Given the description of an element on the screen output the (x, y) to click on. 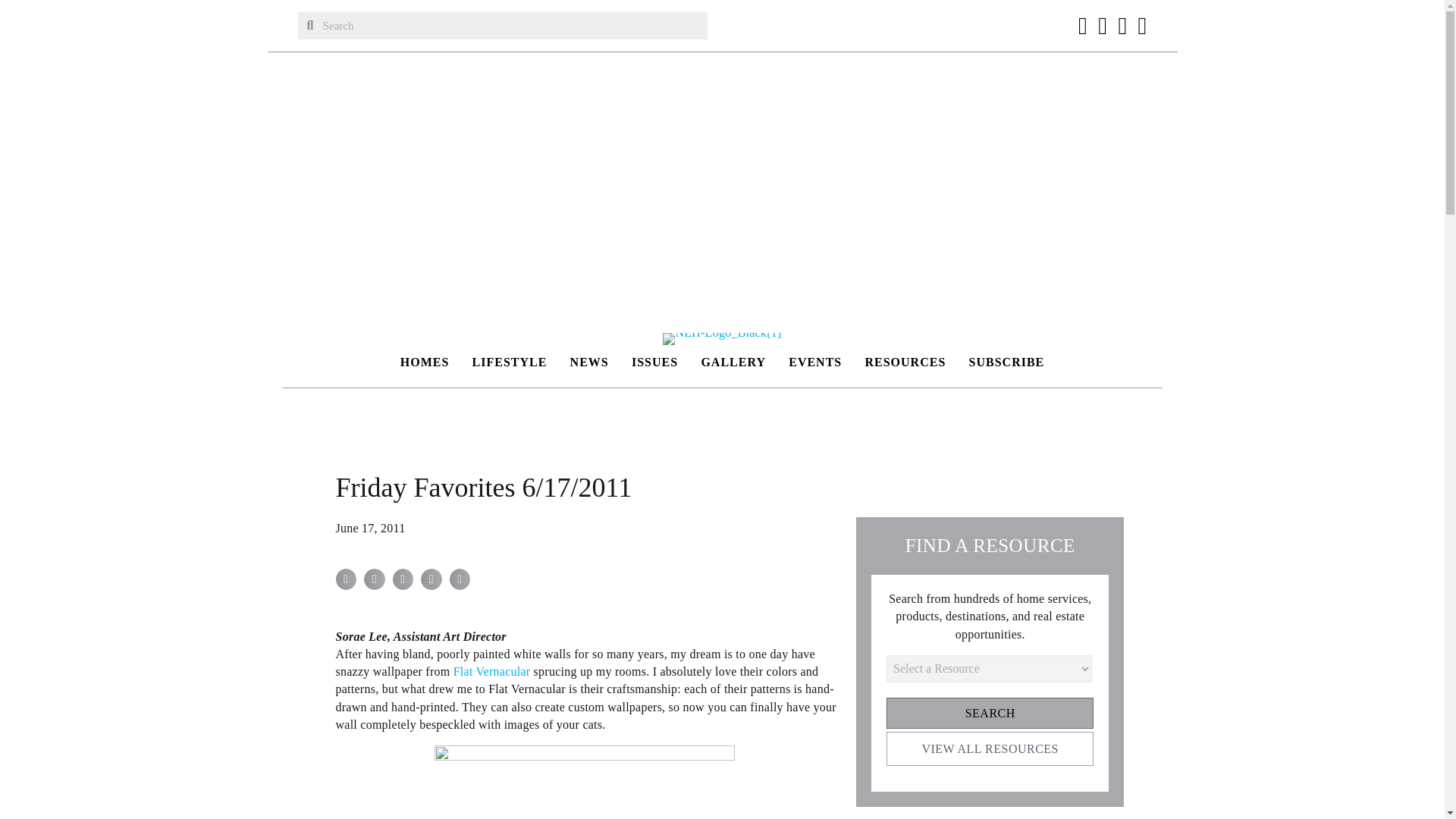
Search (989, 712)
Search (510, 25)
NEWS (588, 361)
GALLERY (733, 361)
HOMES (425, 361)
ISSUES (654, 361)
LIFESTYLE (509, 361)
